Given the description of an element on the screen output the (x, y) to click on. 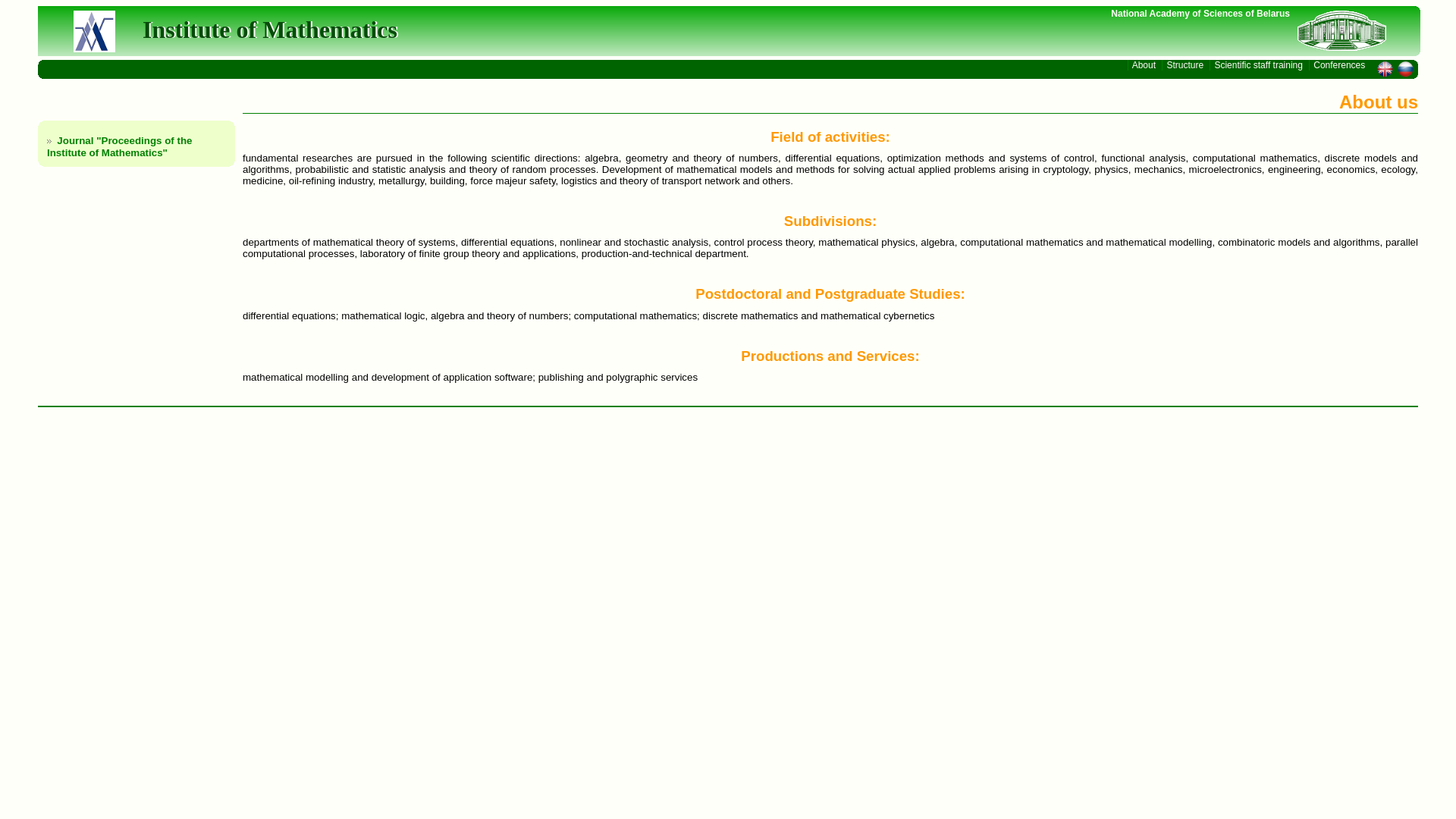
Conferences Element type: text (1338, 64)
About Element type: text (1144, 64)
Journal "Proceedings of the Institute of Mathematics" Element type: text (119, 146)
Structure Element type: text (1185, 64)
Scientific staff training Element type: text (1258, 64)
